Given the description of an element on the screen output the (x, y) to click on. 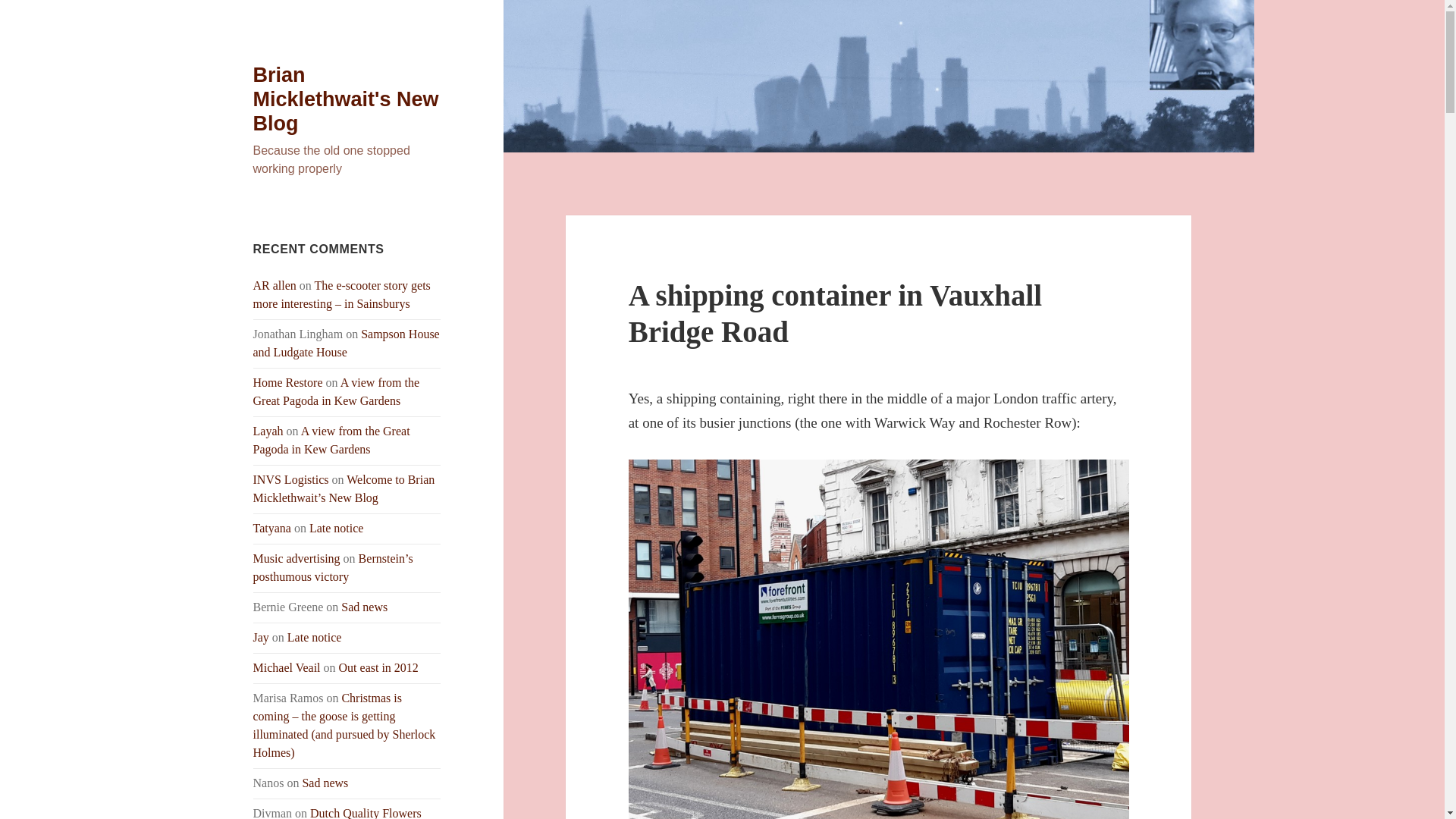
Tatyana (272, 527)
Home Restore (288, 382)
Michael Veail (286, 667)
Sad news (324, 782)
Out east in 2012 (379, 667)
Sad news (363, 606)
Brian Micklethwait's New Blog (346, 99)
Sampson House and Ludgate House (346, 342)
Jay (261, 636)
INVS Logistics (291, 479)
